Given the description of an element on the screen output the (x, y) to click on. 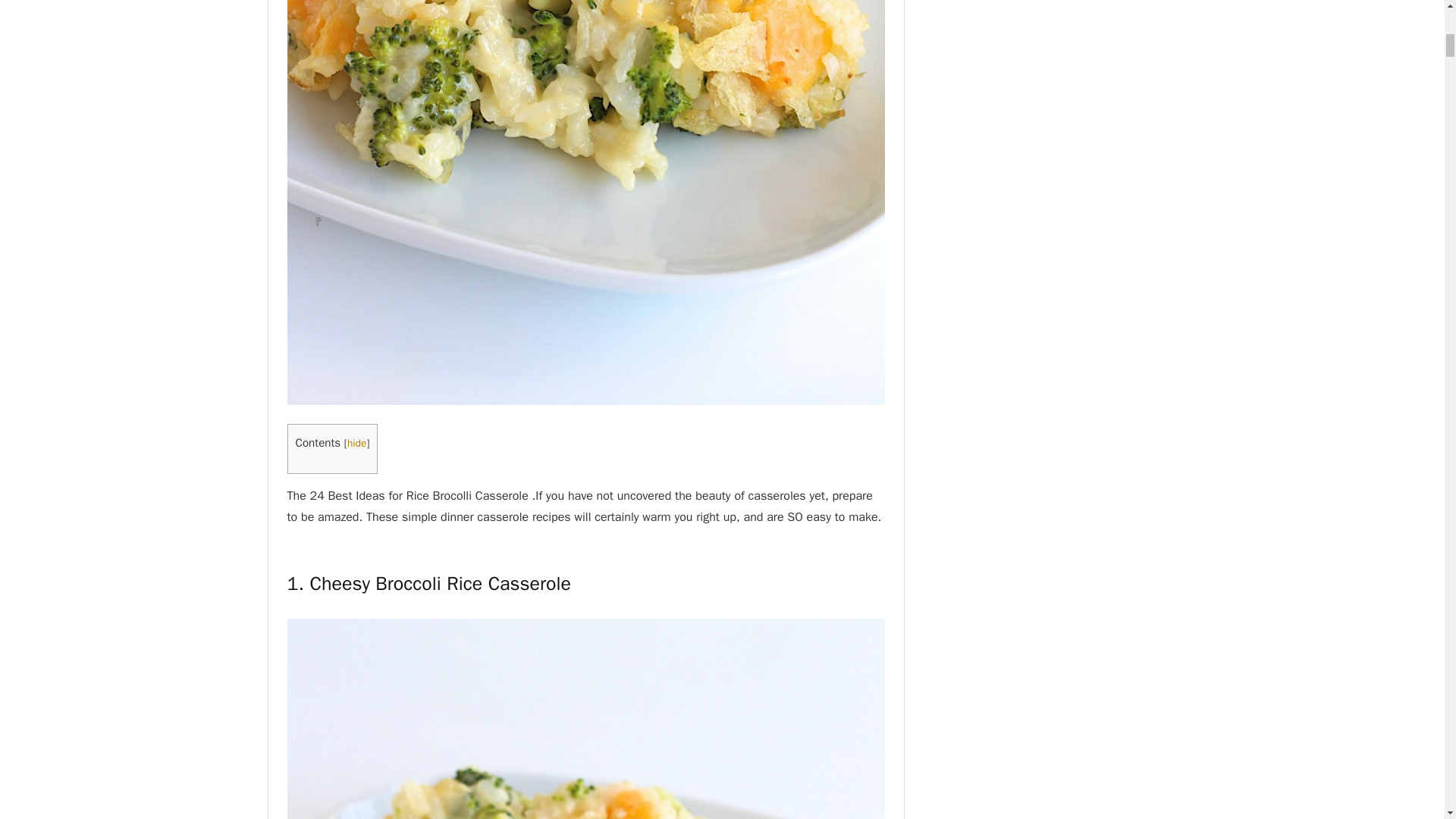
cheesy broccoli rice casserole (584, 719)
hide (356, 442)
